Given the description of an element on the screen output the (x, y) to click on. 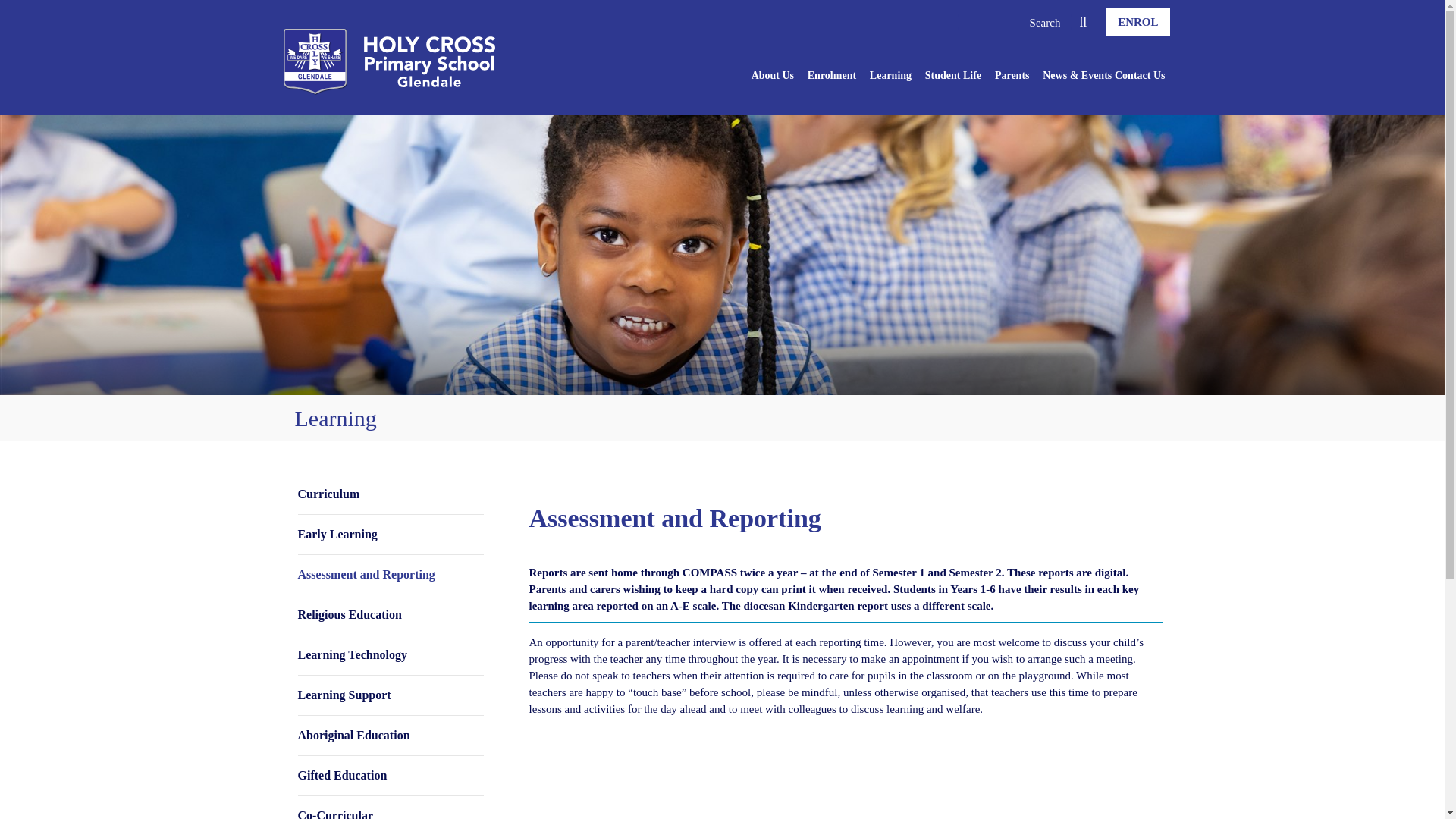
Enrolment (832, 76)
ENROL (1137, 21)
About Us (772, 76)
Student Life (952, 76)
Learning (890, 76)
